Given the description of an element on the screen output the (x, y) to click on. 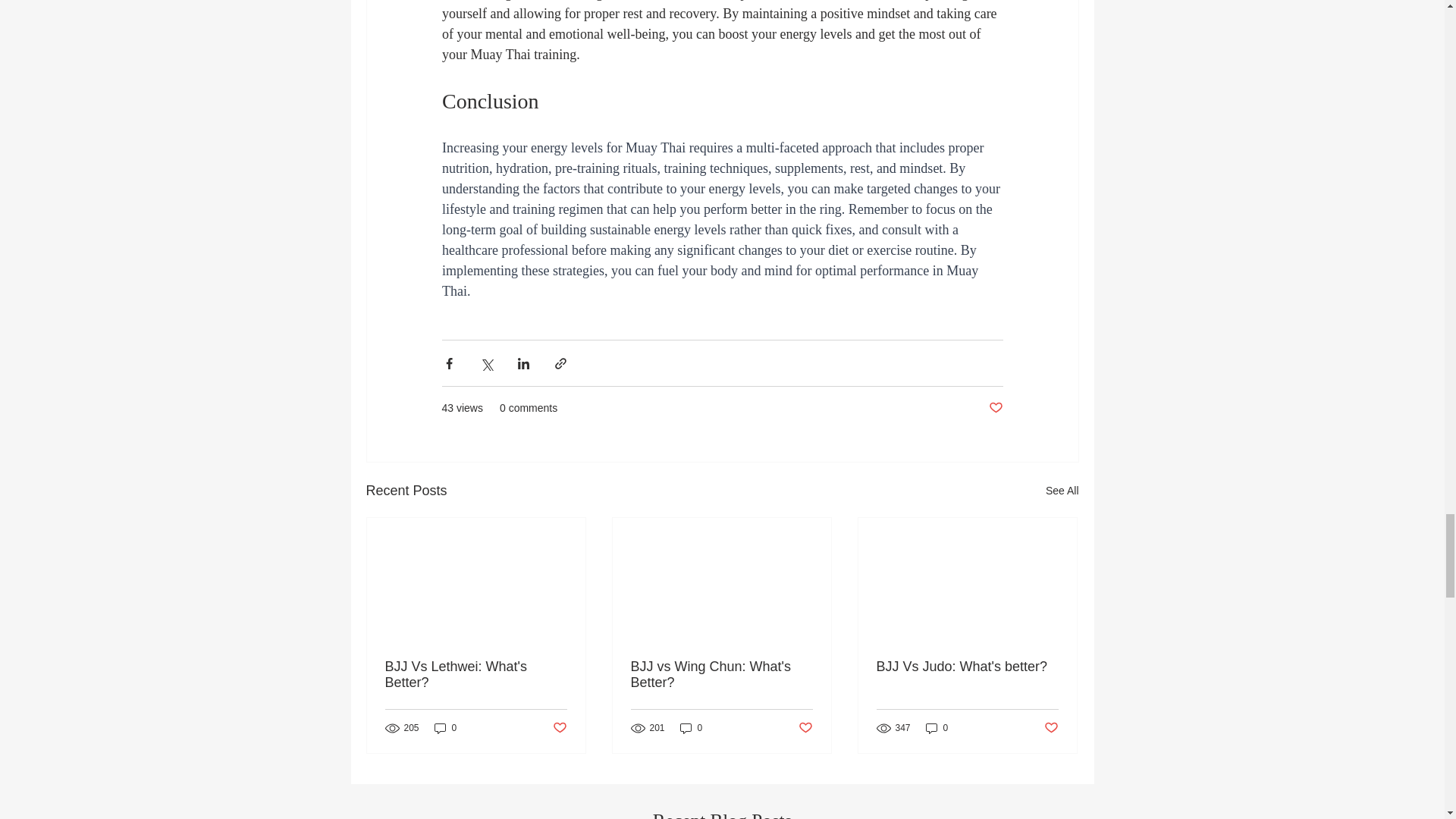
0 (445, 727)
See All (1061, 490)
BJJ Vs Lethwei: What's Better? (476, 675)
Post not marked as liked (558, 728)
Post not marked as liked (995, 408)
BJJ vs Wing Chun: What's Better? (721, 675)
